Given the description of an element on the screen output the (x, y) to click on. 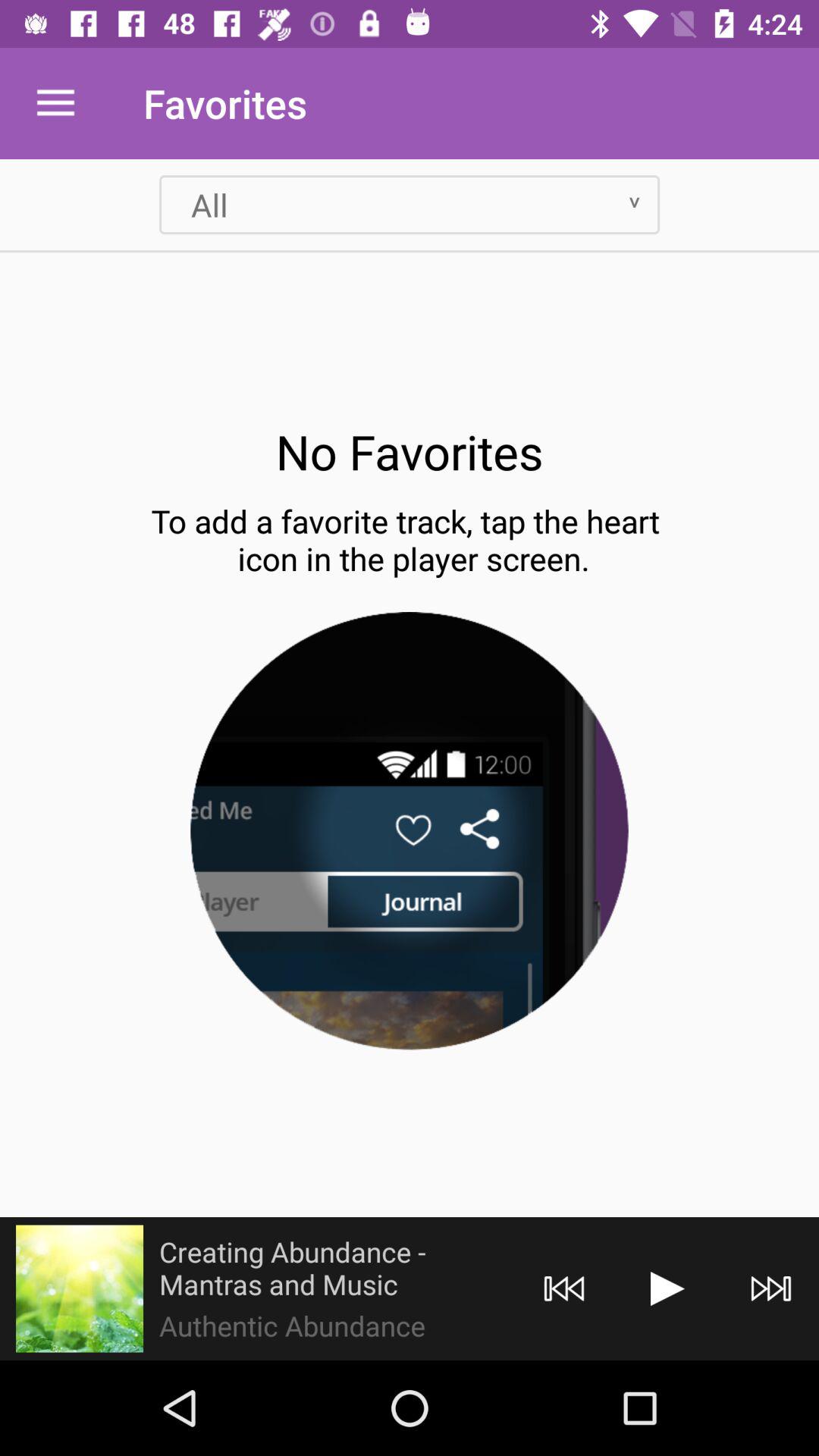
go forward (667, 1288)
